Given the description of an element on the screen output the (x, y) to click on. 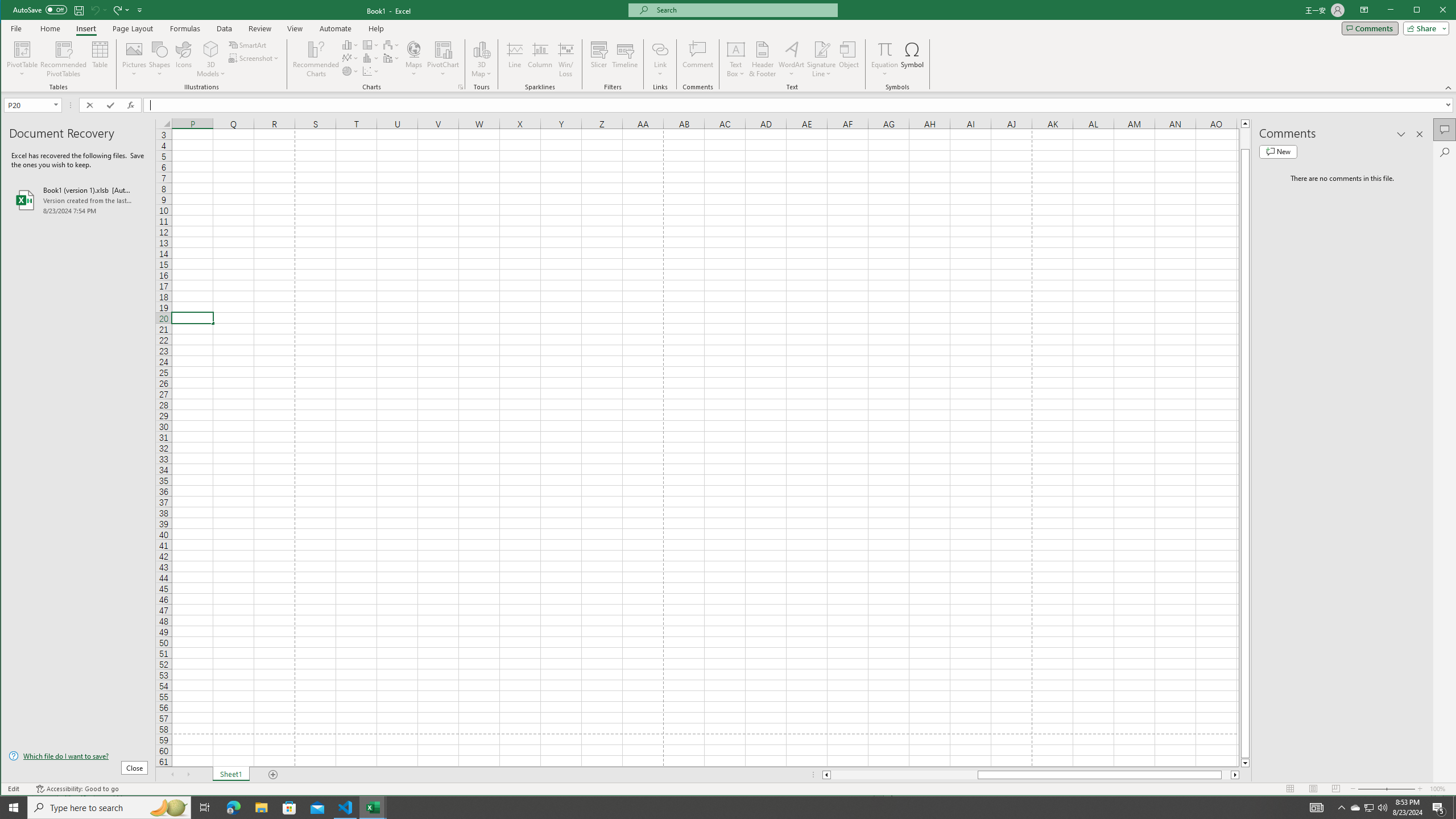
Ribbon Display Options (1364, 9)
Visual Studio Code - 1 running window (345, 807)
Win/Loss (565, 59)
Start (13, 807)
Timeline (625, 59)
Collapse the Ribbon (1448, 87)
Line up (1245, 122)
Open (56, 105)
Class: NetUIScrollBar (1030, 774)
Customize Quick Access Toolbar (140, 9)
Quick Access Toolbar (79, 9)
Maps (413, 59)
3D Models (211, 48)
